Given the description of an element on the screen output the (x, y) to click on. 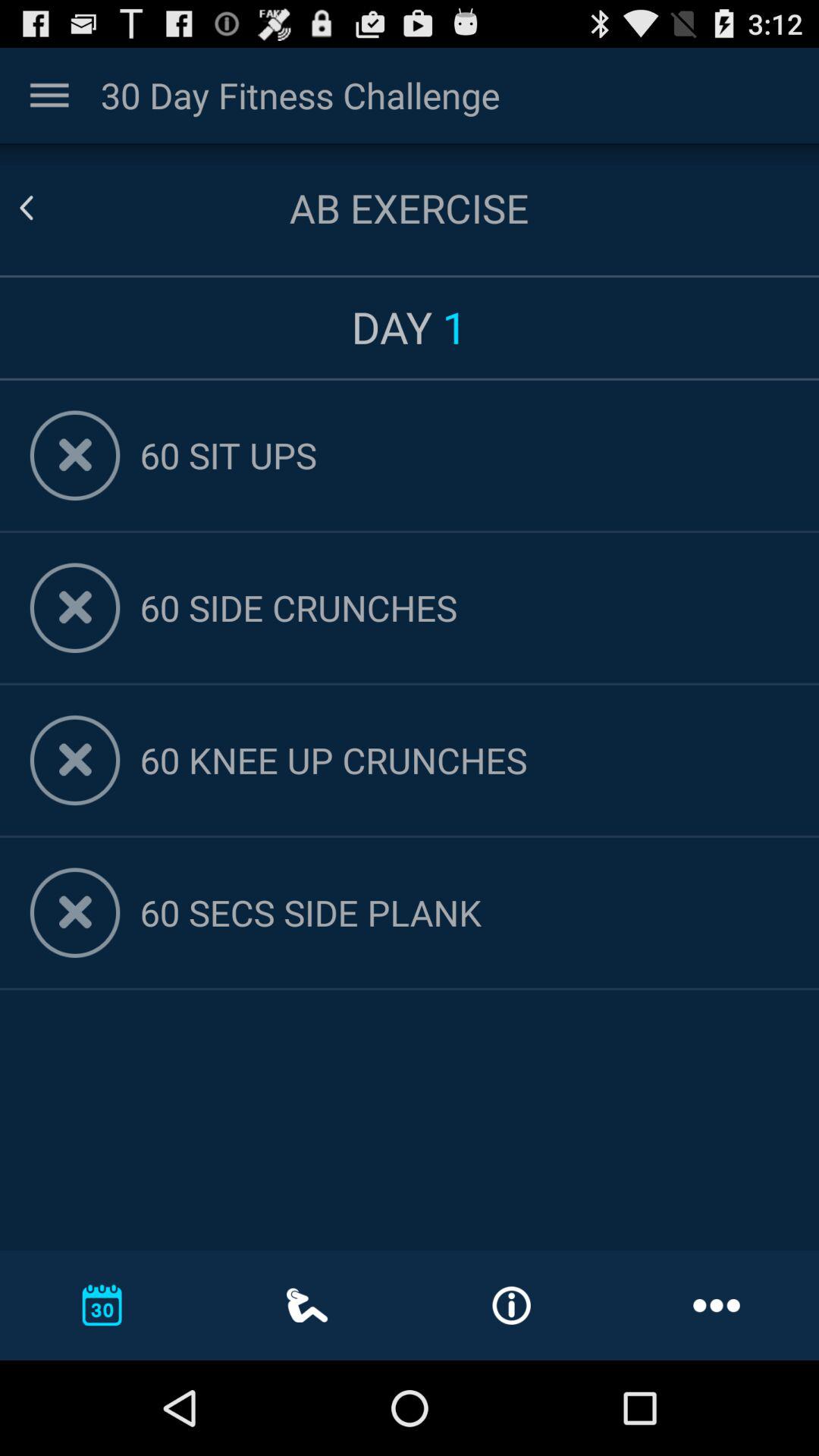
delete an exercise (75, 455)
